Given the description of an element on the screen output the (x, y) to click on. 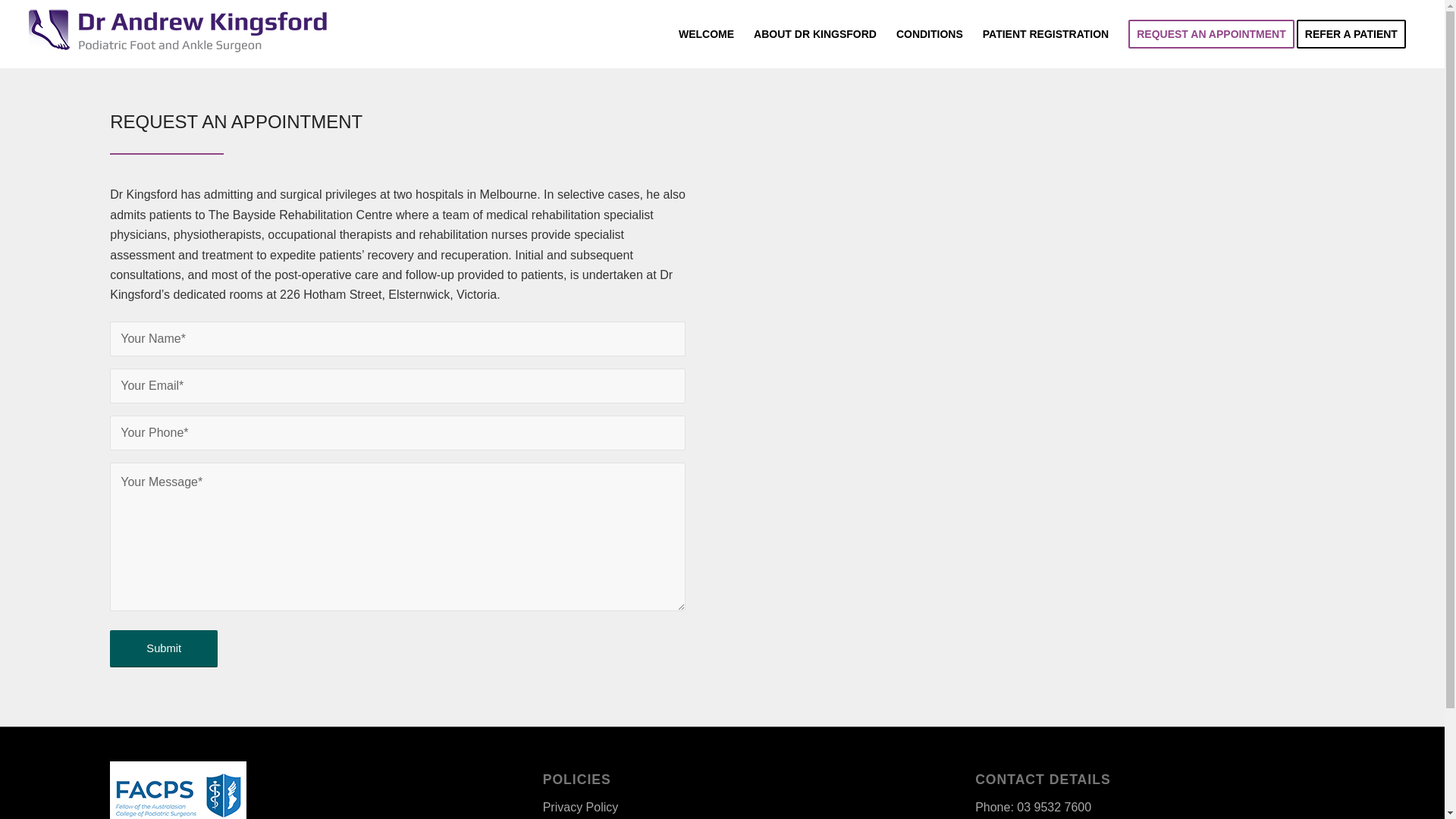
REQUEST AN APPOINTMENT Element type: text (1211, 34)
PATIENT REGISTRATION Element type: text (1045, 34)
ABOUT DR KINGSFORD Element type: text (814, 34)
WELCOME Element type: text (705, 34)
CONDITIONS Element type: text (929, 34)
Privacy Policy Element type: text (580, 806)
Submit Element type: text (163, 648)
REFER A PATIENT Element type: text (1355, 34)
03 9532 7600 Element type: text (1053, 806)
